Given the description of an element on the screen output the (x, y) to click on. 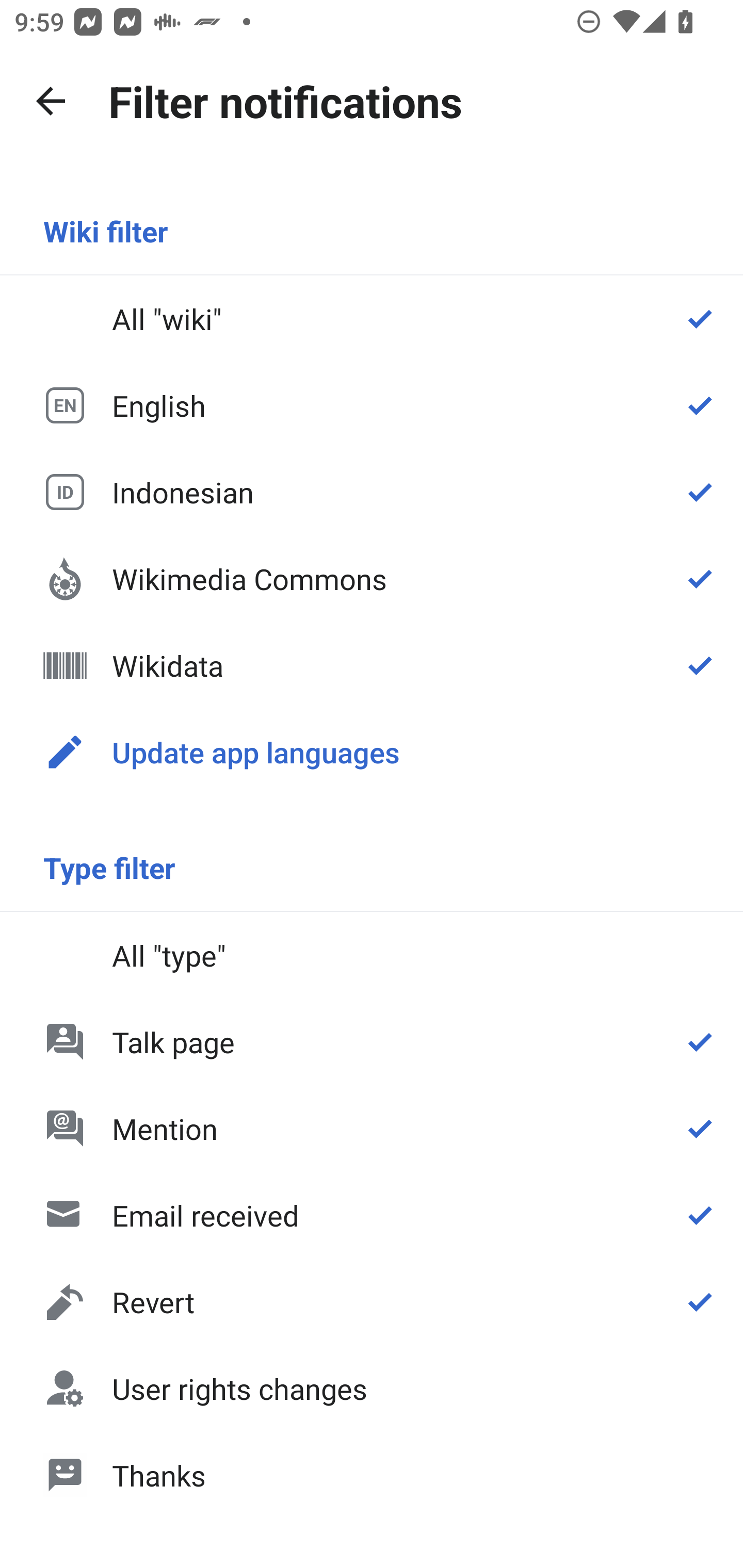
Navigate up (50, 101)
All "wiki" (371, 318)
EN English (371, 405)
ID Indonesian (371, 491)
Wikimedia Commons (371, 578)
Wikidata (371, 665)
Update app languages (371, 751)
All "type" (371, 955)
Talk page (371, 1041)
Mention (371, 1128)
Email received (371, 1215)
Revert (371, 1302)
User rights changes (371, 1388)
Thanks (371, 1474)
